Given the description of an element on the screen output the (x, y) to click on. 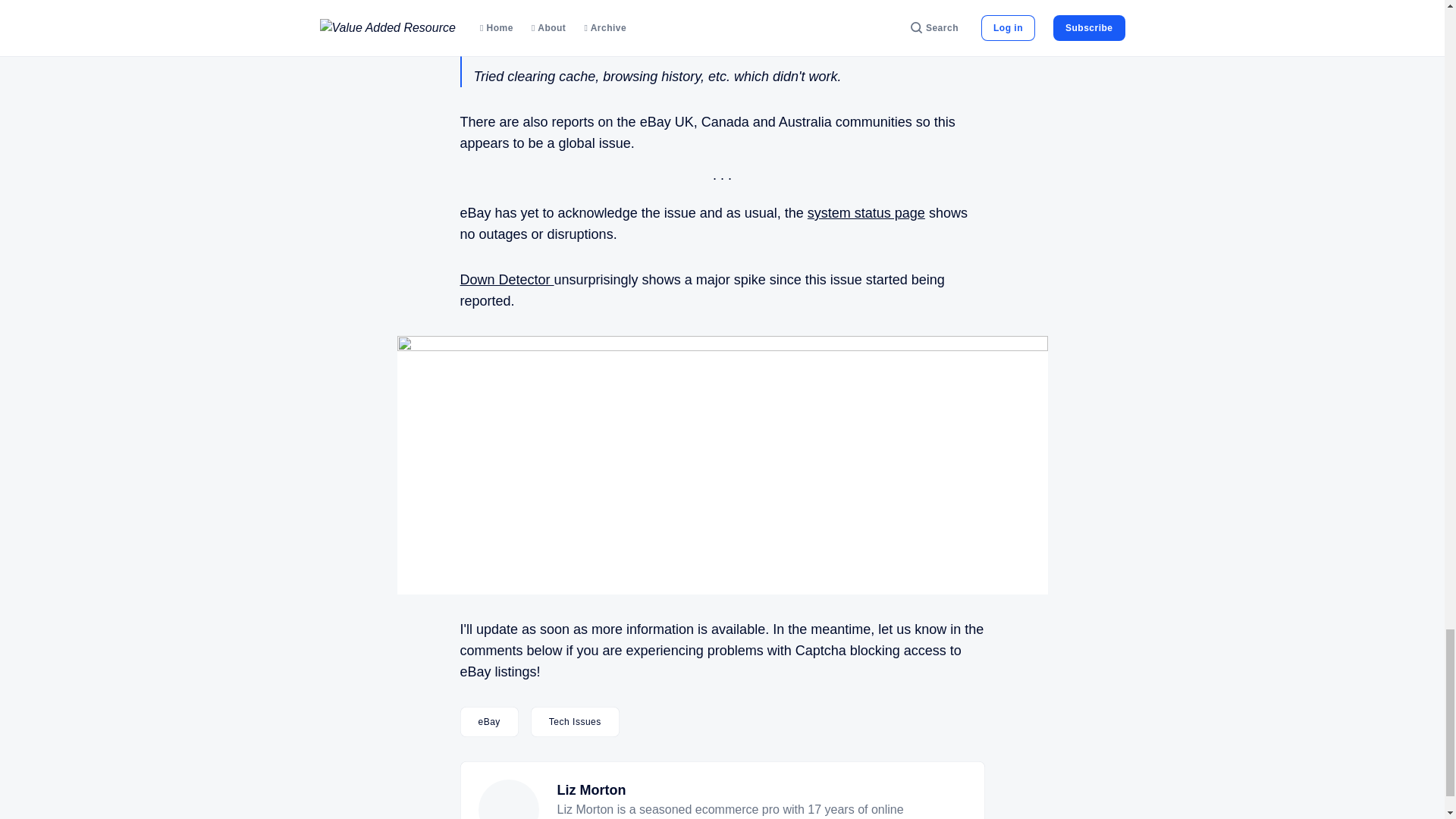
eBay (489, 721)
Liz Morton (591, 789)
Tech Issues (575, 721)
Down Detector (506, 279)
system status page (866, 212)
